Given the description of an element on the screen output the (x, y) to click on. 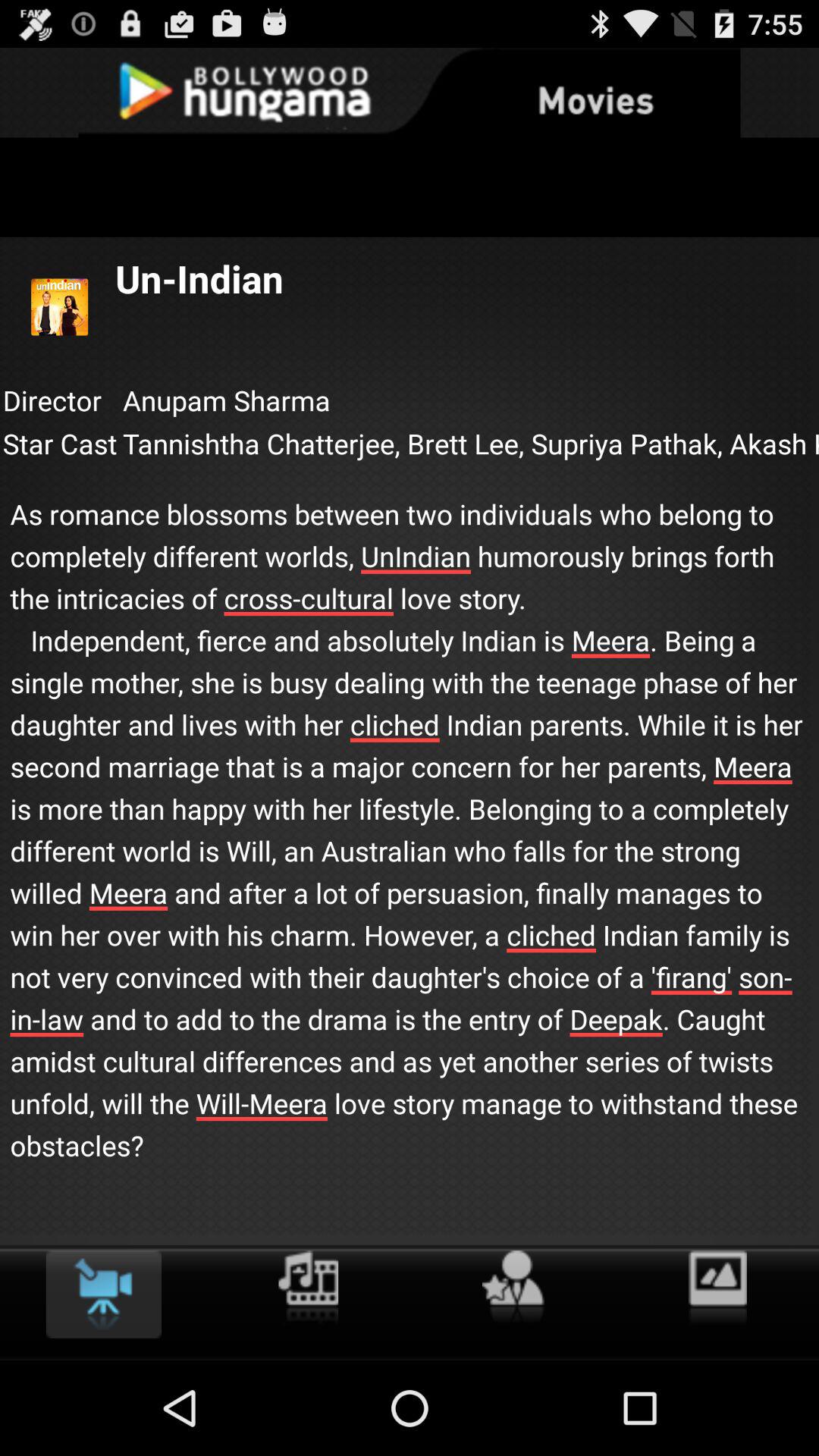
turn off the item below the as romance blossoms (103, 1294)
